Given the description of an element on the screen output the (x, y) to click on. 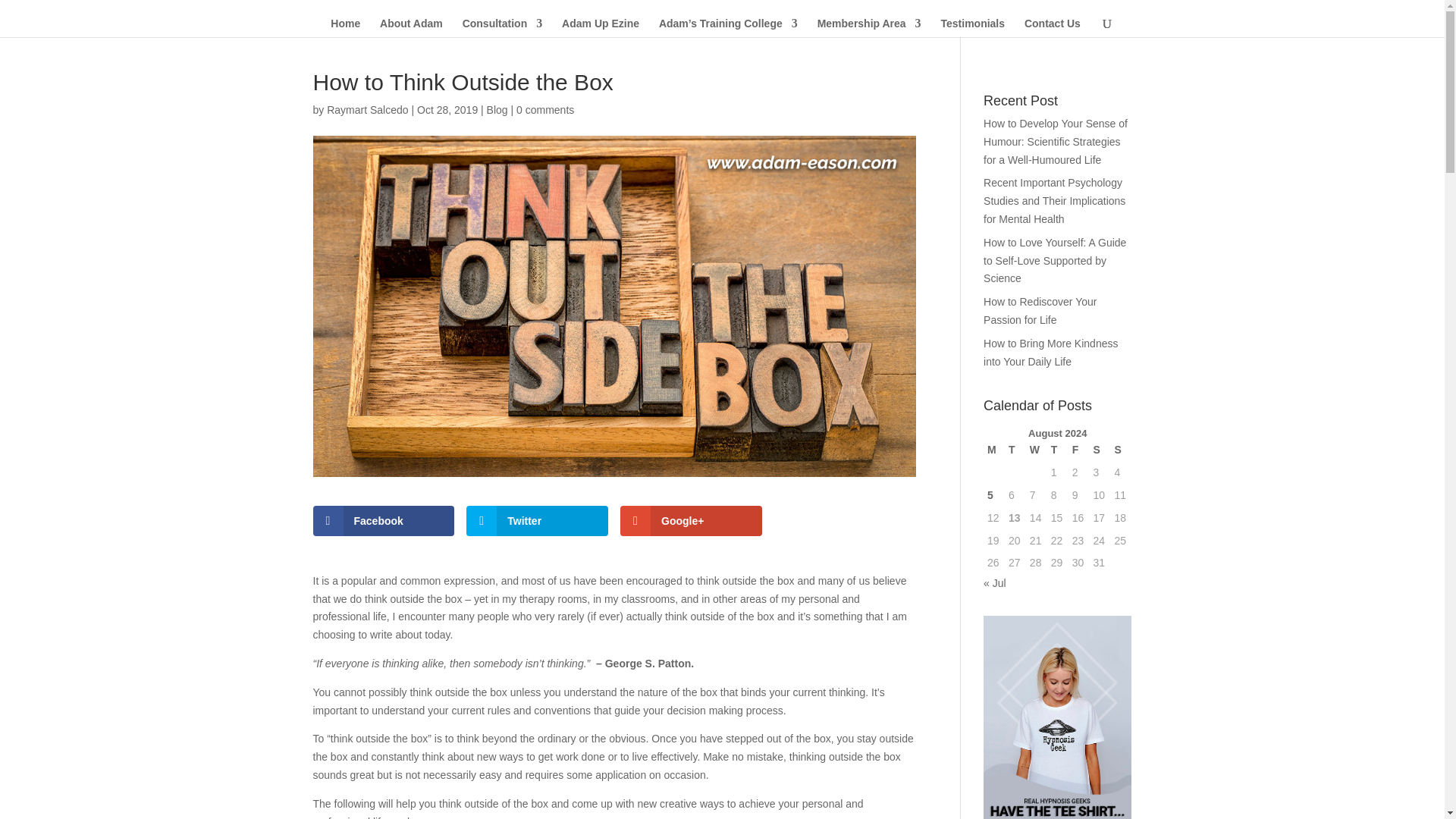
Adam Up Ezine (600, 27)
Wednesday (1036, 449)
Contact Us (1052, 27)
Posts by Raymart Salcedo (366, 110)
Twitter (536, 521)
Consultation (503, 27)
About Adam (411, 27)
Facebook (383, 521)
